Given the description of an element on the screen output the (x, y) to click on. 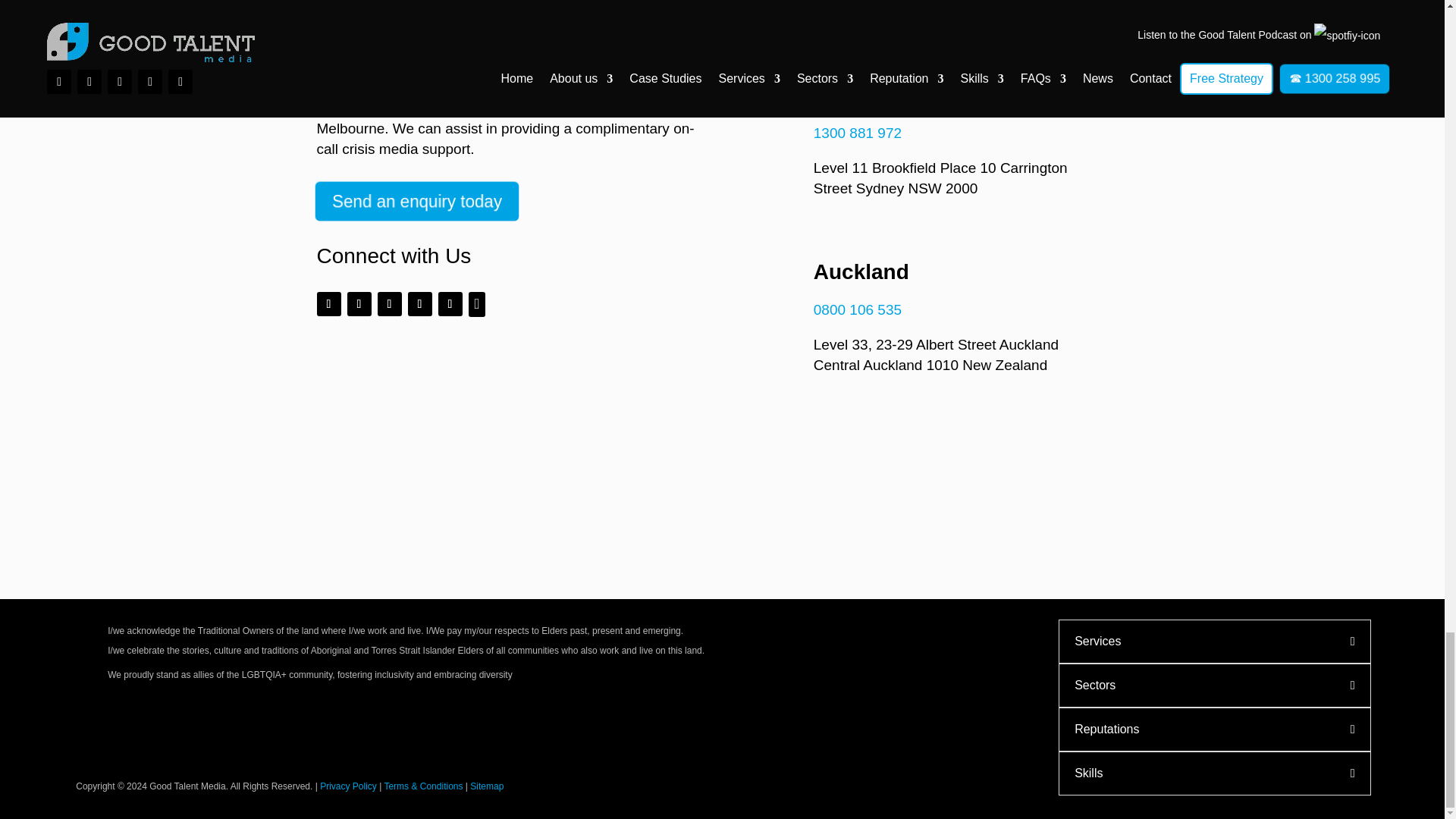
Follow on Instagram (359, 303)
Follow on Youtube (450, 303)
Follow on Facebook (328, 303)
Follow on LinkedIn (419, 303)
Follow on X (389, 303)
